Given the description of an element on the screen output the (x, y) to click on. 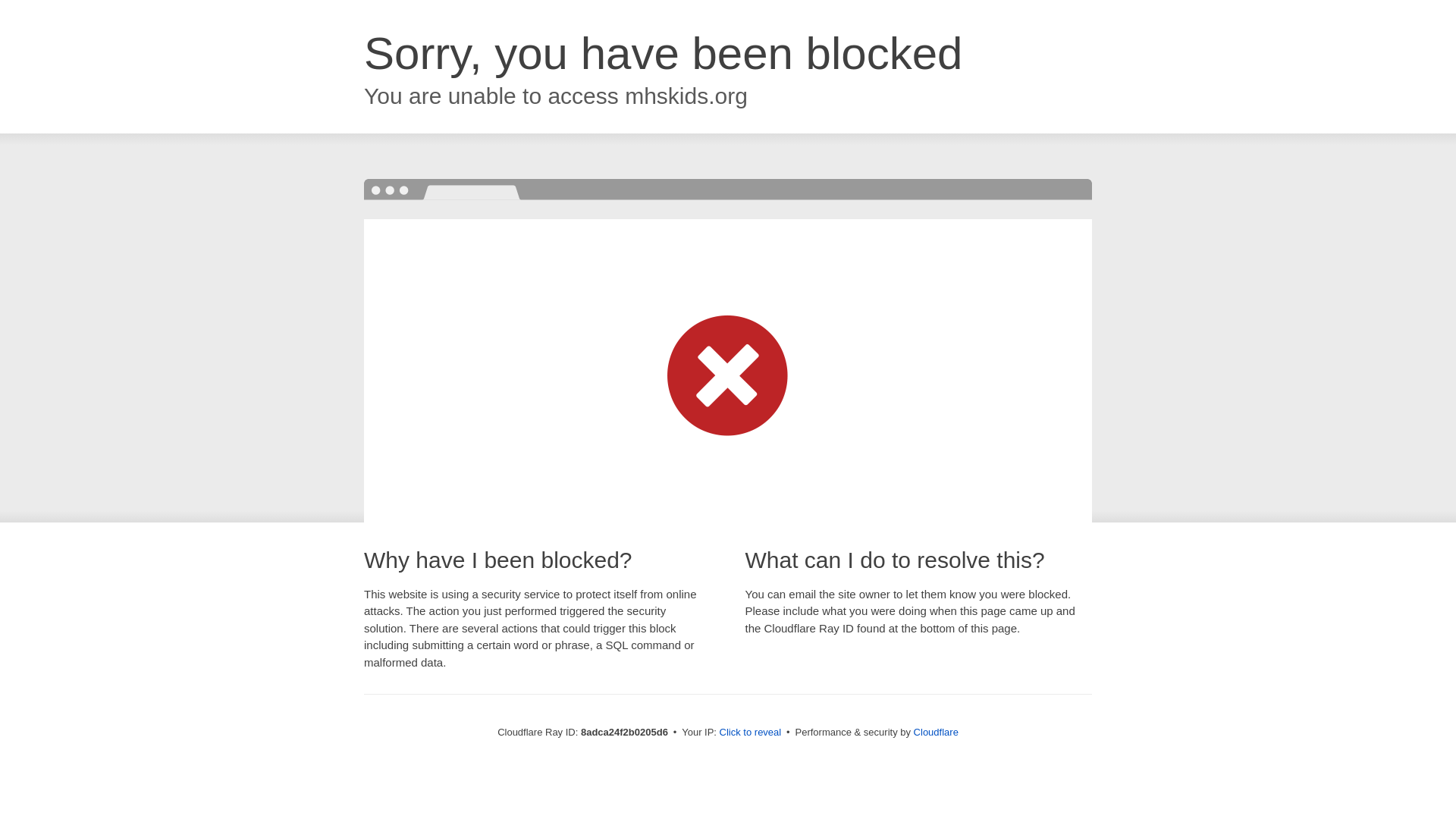
Click to reveal (750, 732)
Cloudflare (936, 731)
